Given the description of an element on the screen output the (x, y) to click on. 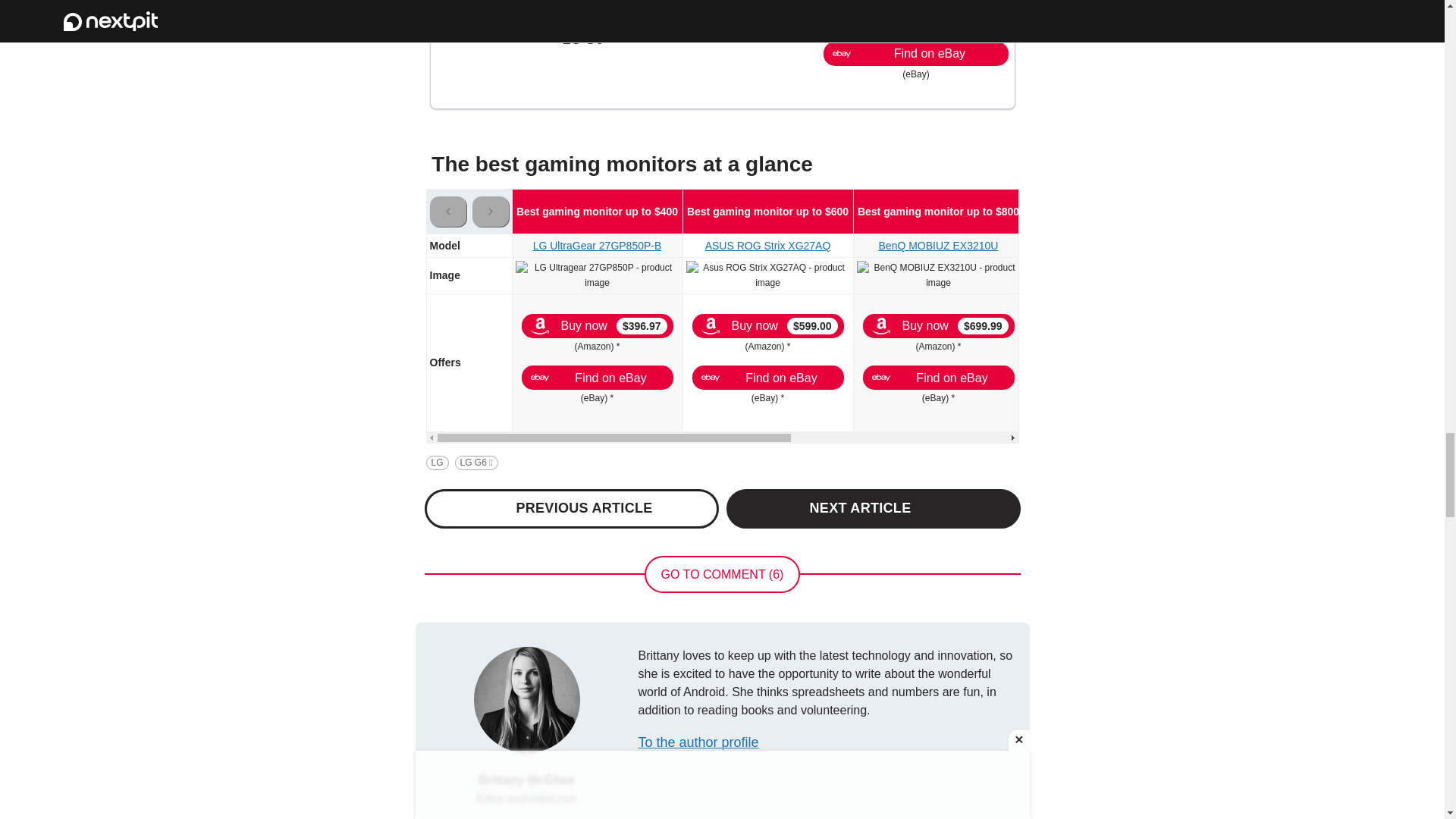
BenQ MOBIUZ EX3210U (938, 275)
Gigabyte M32U (1290, 268)
Asus ROG Strix XG27AQ (766, 275)
LG Ultragear 27GP850P (597, 275)
Asus ROG Swift PG27AQDM (1111, 275)
